Given the description of an element on the screen output the (x, y) to click on. 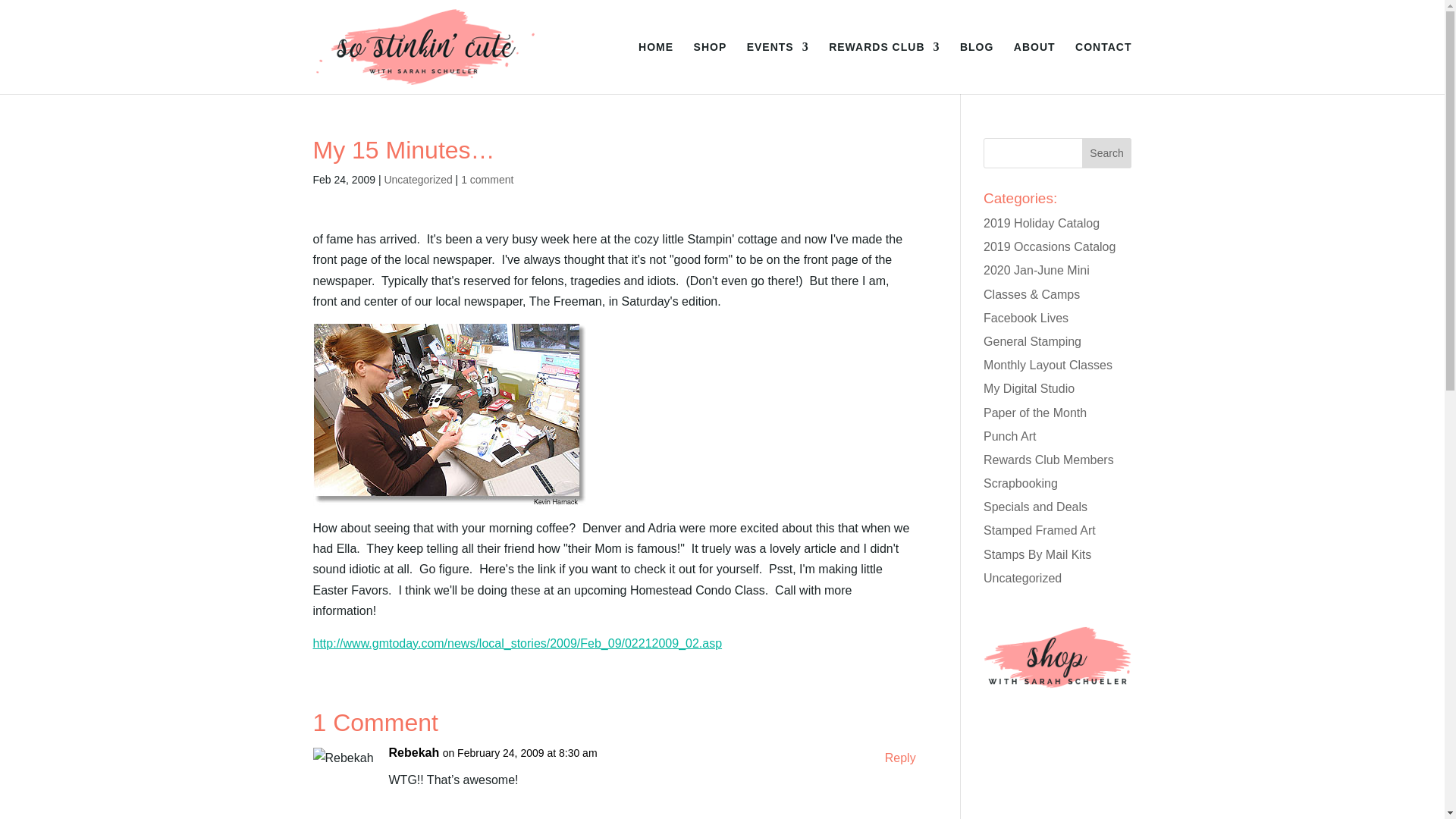
EVENTS (777, 67)
Uncategorized (1022, 577)
CONTACT (1103, 67)
My Digital Studio (1029, 388)
Search (1106, 153)
Reply (900, 757)
General Stamping (1032, 341)
Facebook Lives (1026, 318)
Uncategorized (417, 179)
1 comment (487, 179)
Stamped Framed Art (1040, 530)
Search (1106, 153)
REWARDS CLUB (883, 67)
2020 Jan-June Mini (1036, 269)
Stamps By Mail Kits (1037, 554)
